Given the description of an element on the screen output the (x, y) to click on. 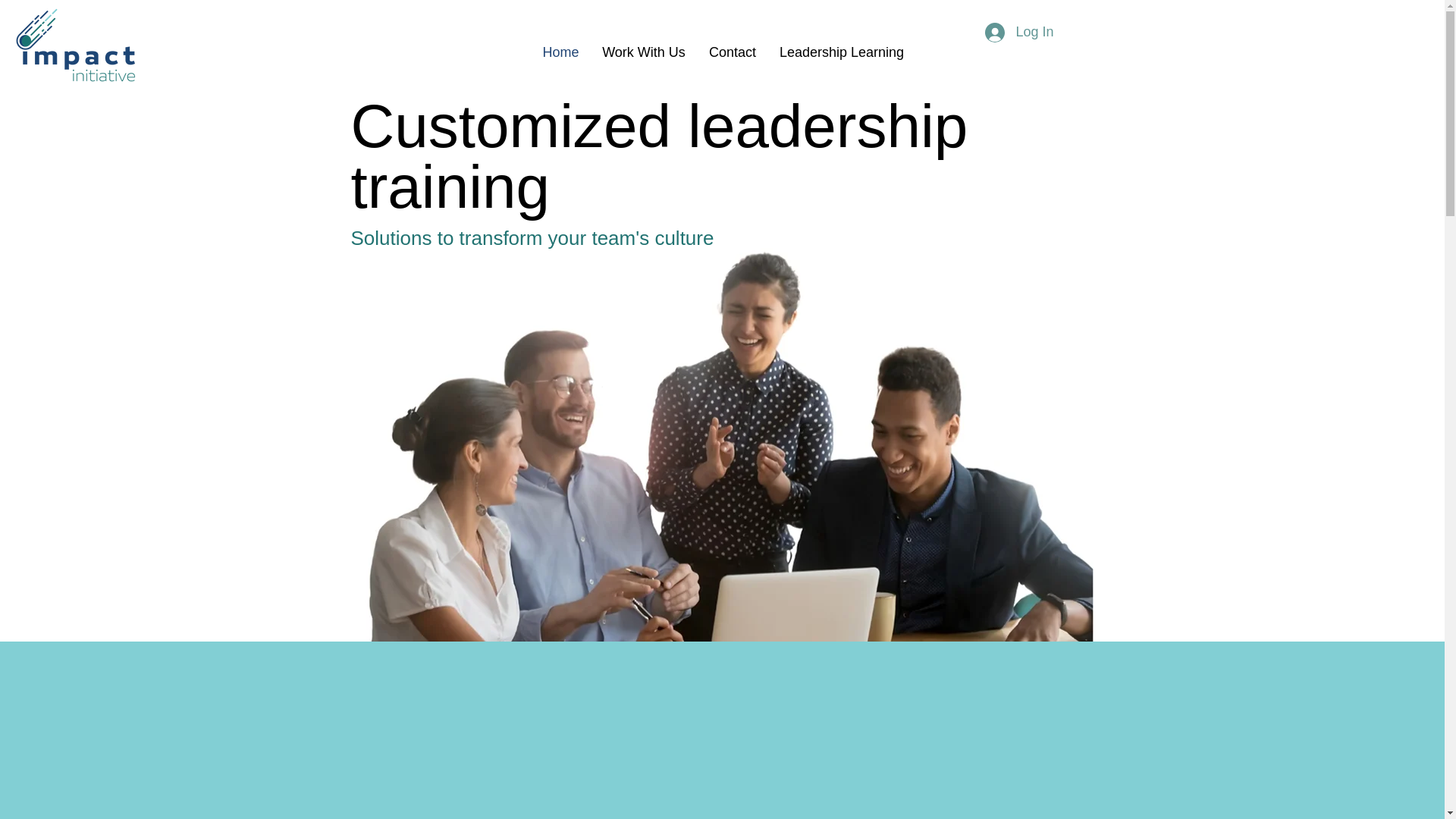
Leadership Learning (841, 52)
Work With Us (644, 52)
Home (561, 52)
Contact (732, 52)
Log In (1019, 32)
